Given the description of an element on the screen output the (x, y) to click on. 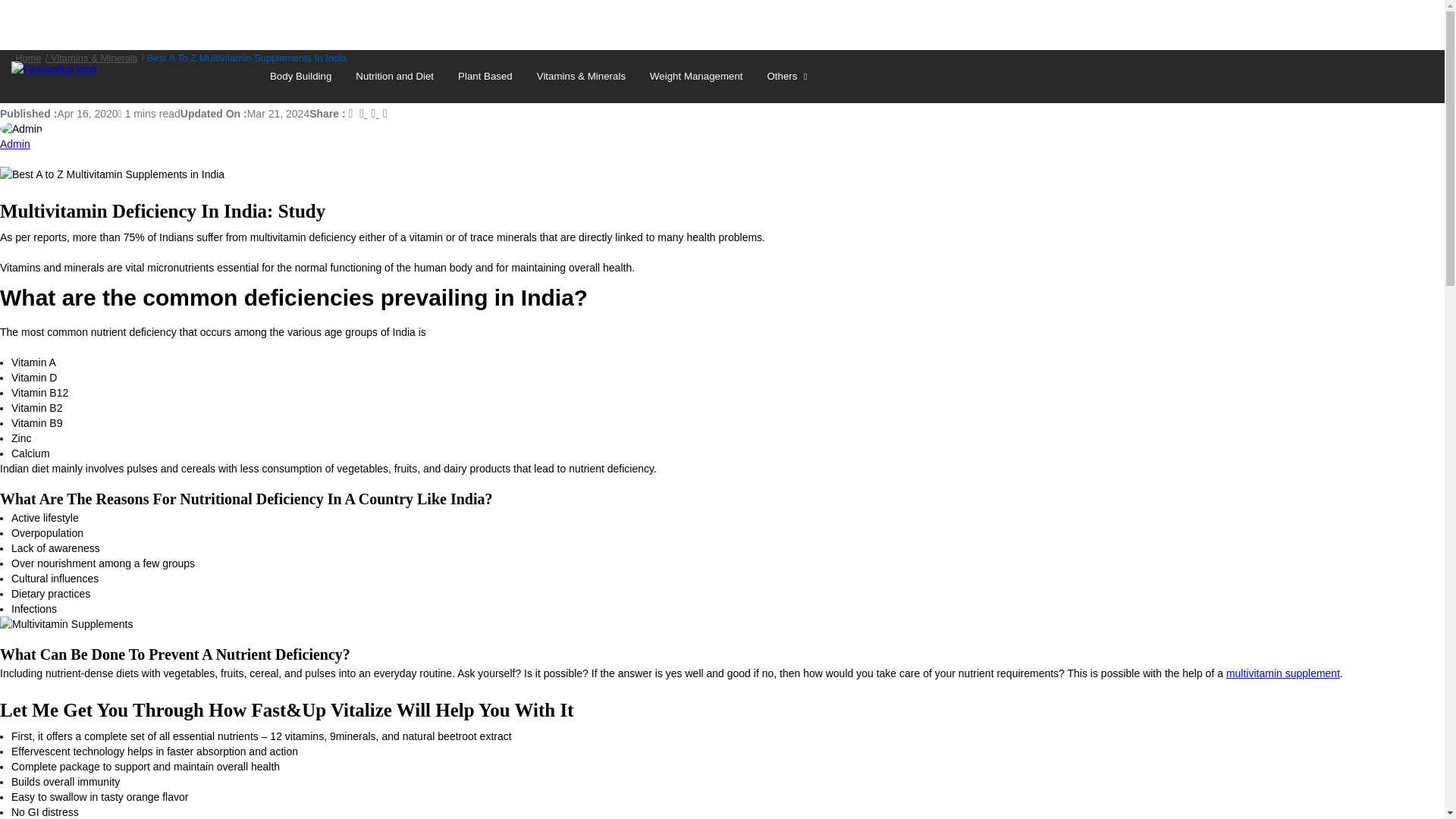
Plant Based (484, 76)
Home (28, 57)
Body Building (300, 76)
Weight Management (695, 76)
Others (789, 76)
Multivitamin Supplements (66, 623)
Admin (15, 143)
Nutrition and Diet (394, 76)
